Given the description of an element on the screen output the (x, y) to click on. 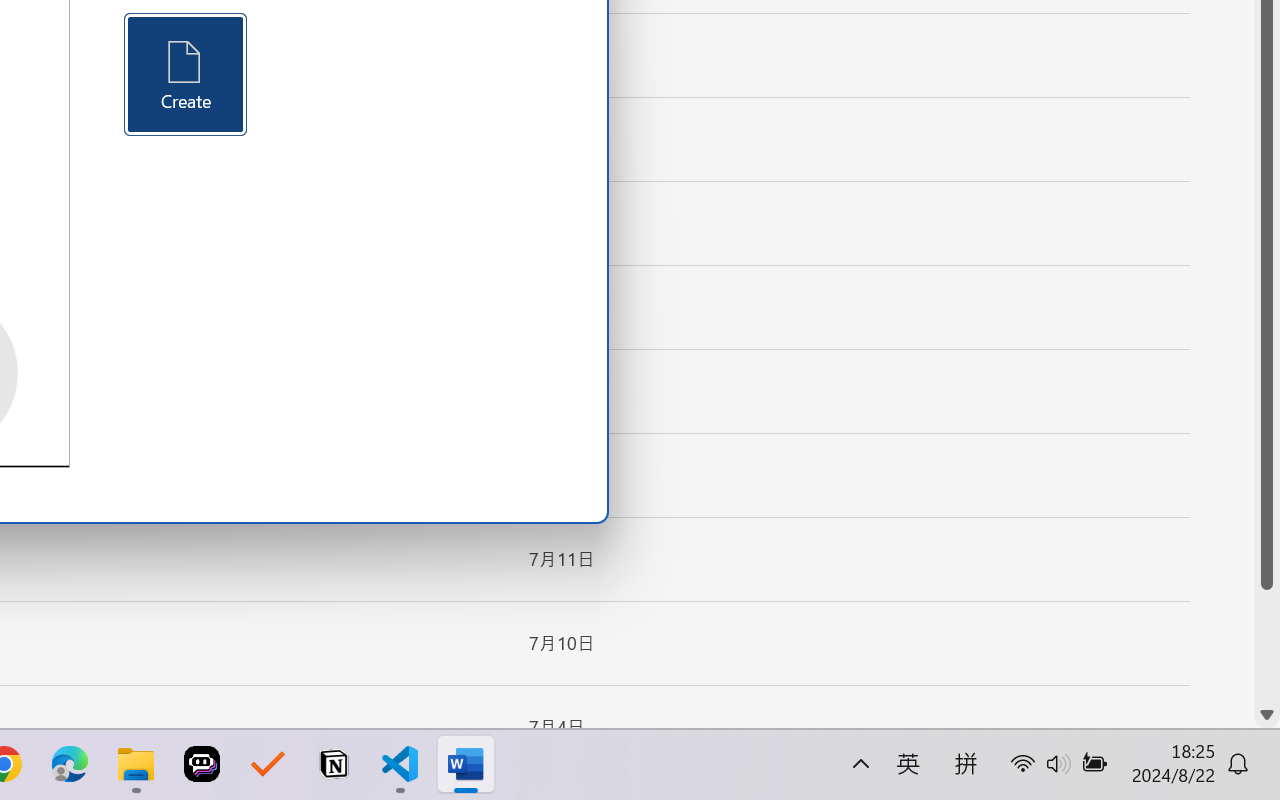
Page down (1267, 646)
